Given the description of an element on the screen output the (x, y) to click on. 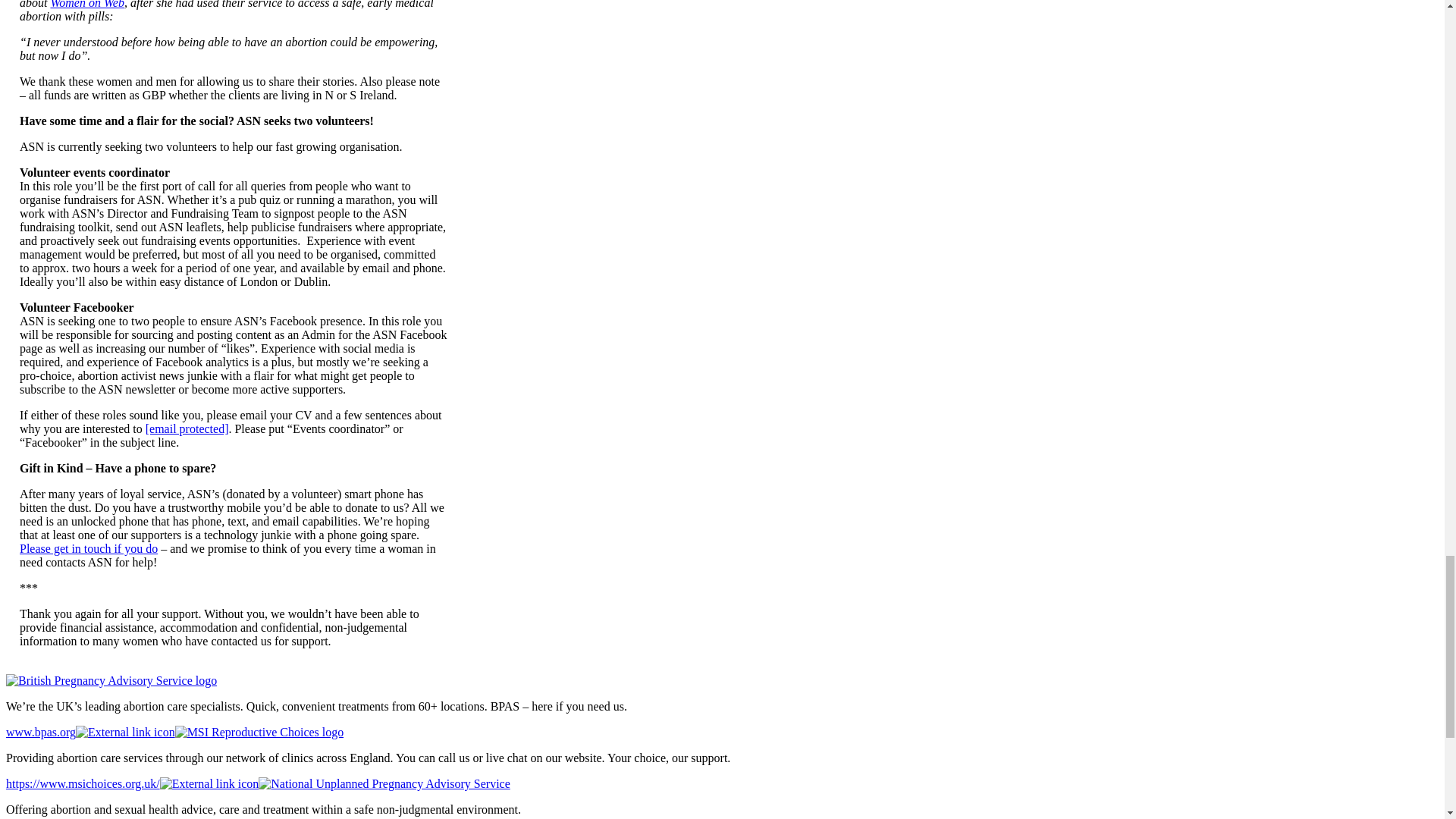
www.bpas.org (110, 680)
www.bpas.org (89, 731)
www.nupas.co.uk (384, 783)
